Given the description of an element on the screen output the (x, y) to click on. 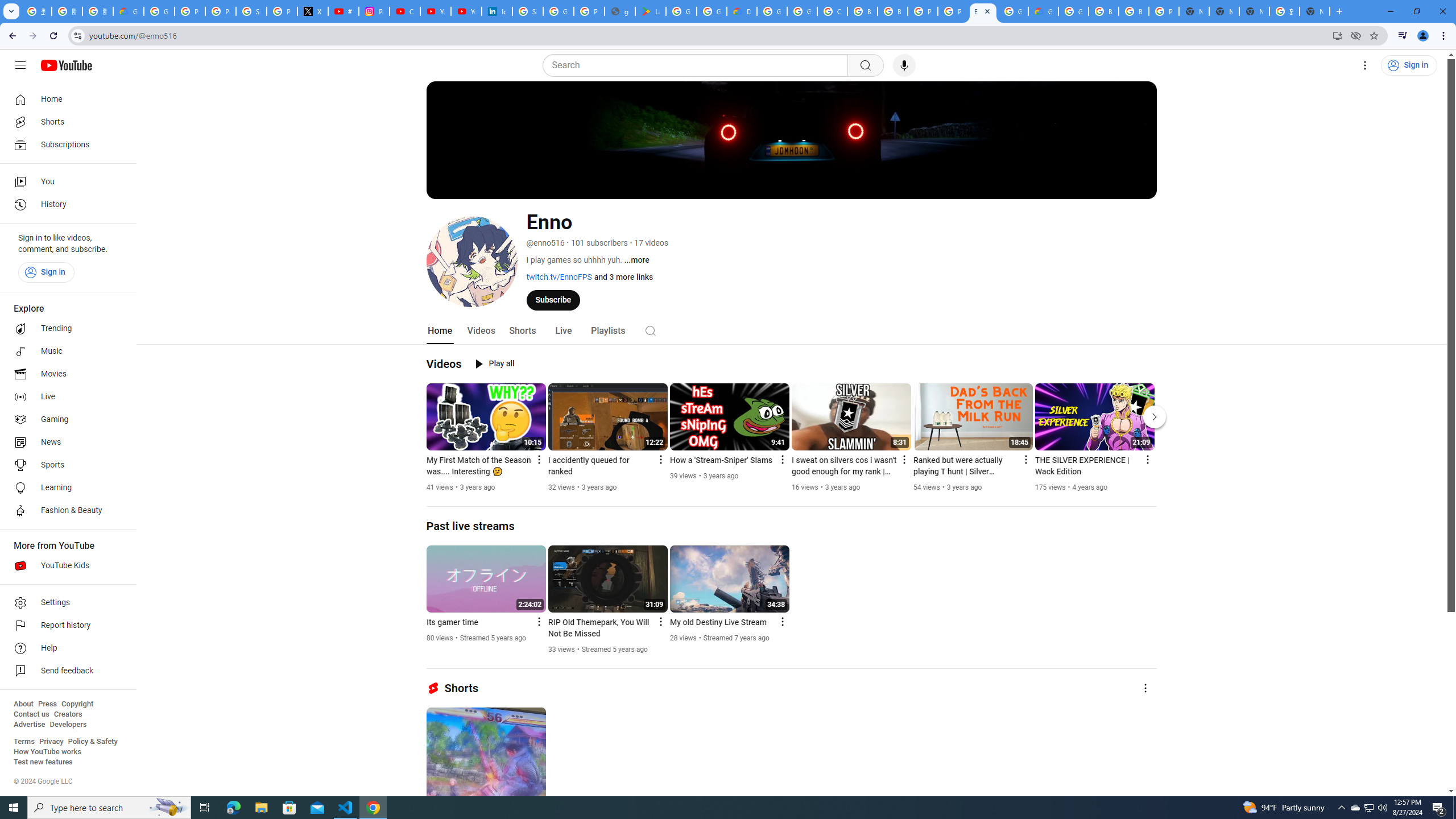
Play all (494, 363)
Google Cloud Platform (1072, 11)
Developers (68, 724)
Sports (64, 464)
Fashion & Beauty (64, 510)
Google Cloud Estimate Summary (1042, 11)
google_privacy_policy_en.pdf (619, 11)
Policy & Safety (91, 741)
